Given the description of an element on the screen output the (x, y) to click on. 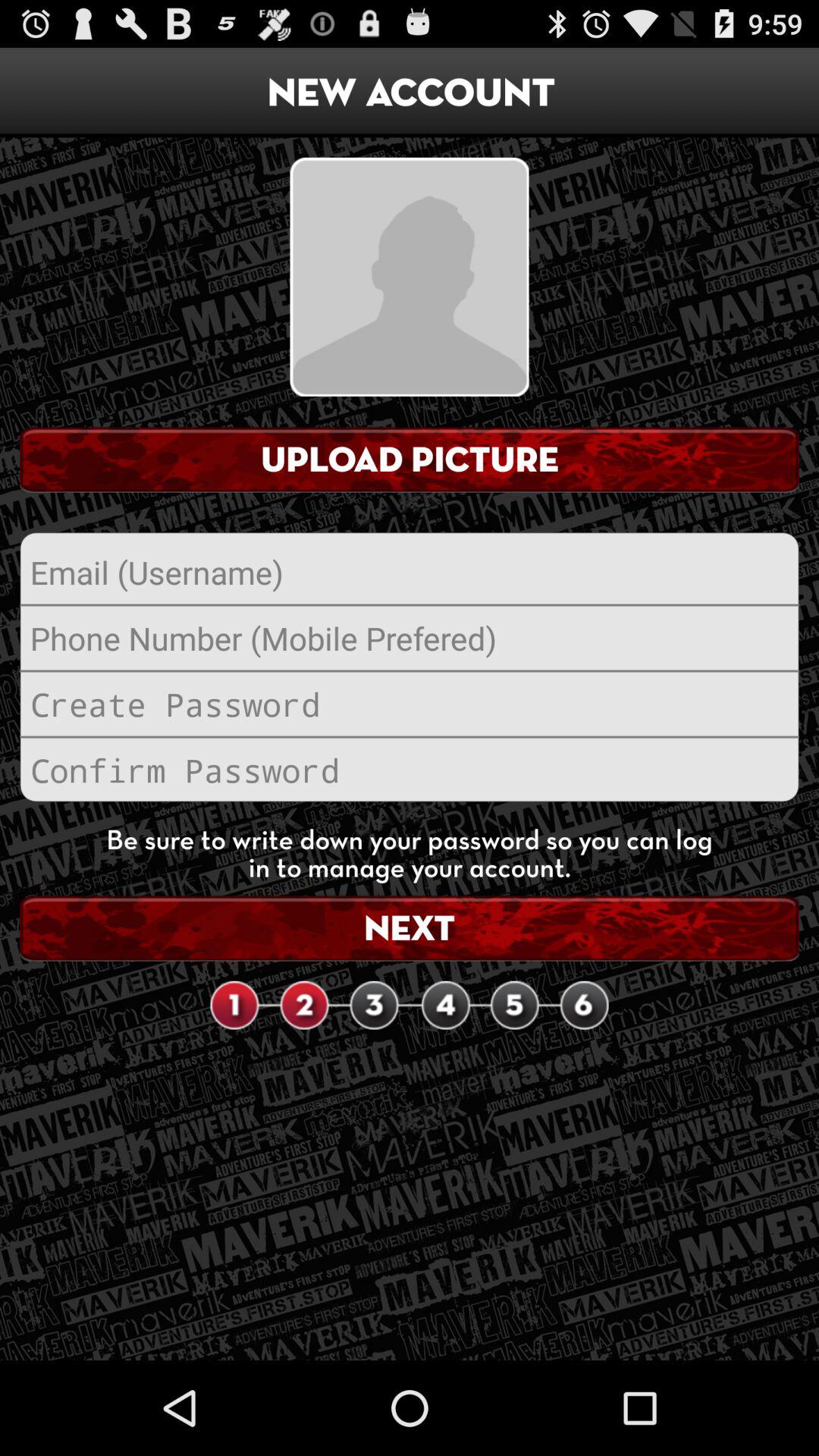
scroll until the upload picture item (409, 459)
